Given the description of an element on the screen output the (x, y) to click on. 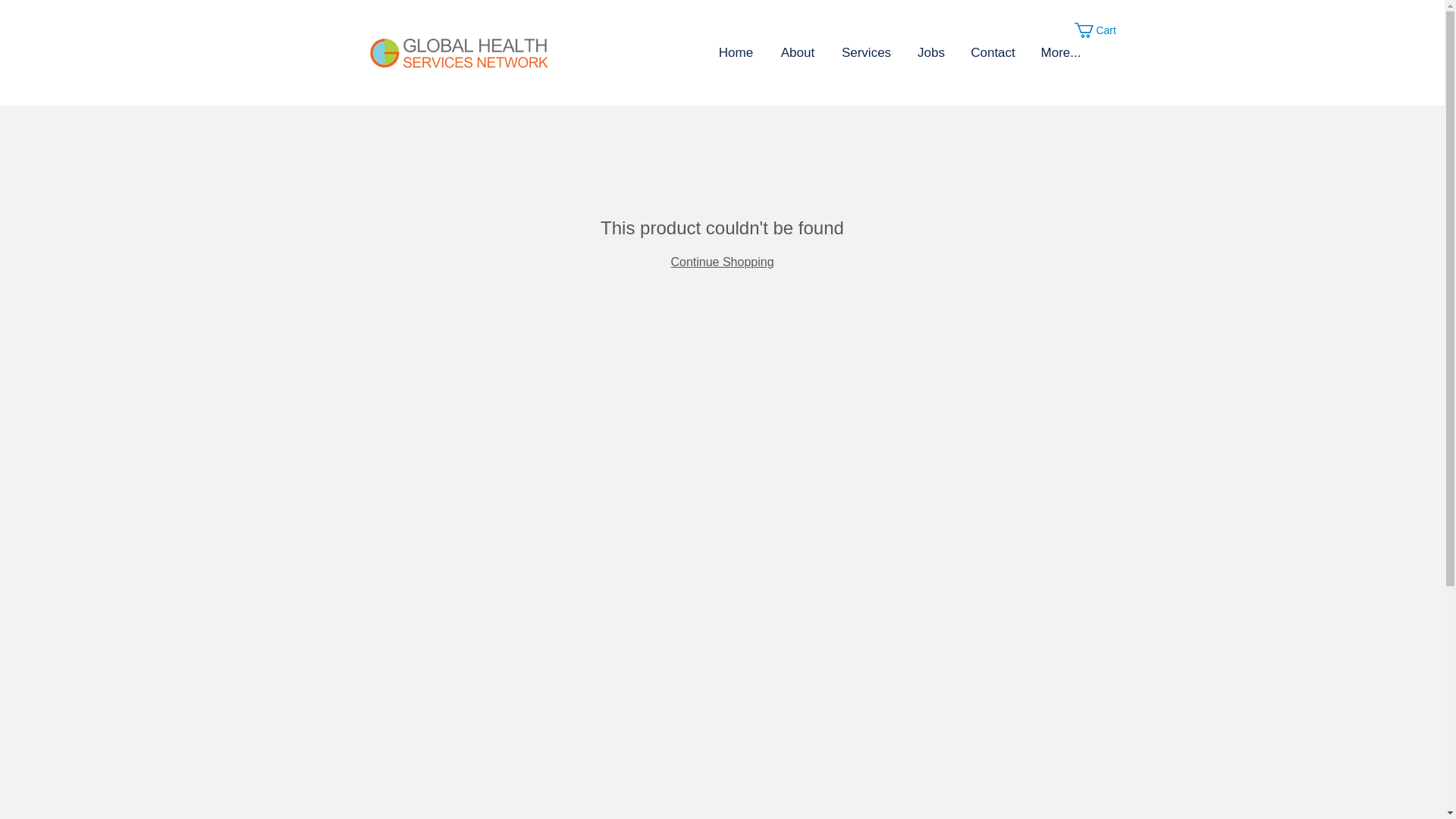
Jobs (931, 52)
Continue Shopping (721, 261)
Home (735, 52)
Contact (992, 52)
Cart (1103, 29)
About (797, 52)
Cart (1103, 29)
